Given the description of an element on the screen output the (x, y) to click on. 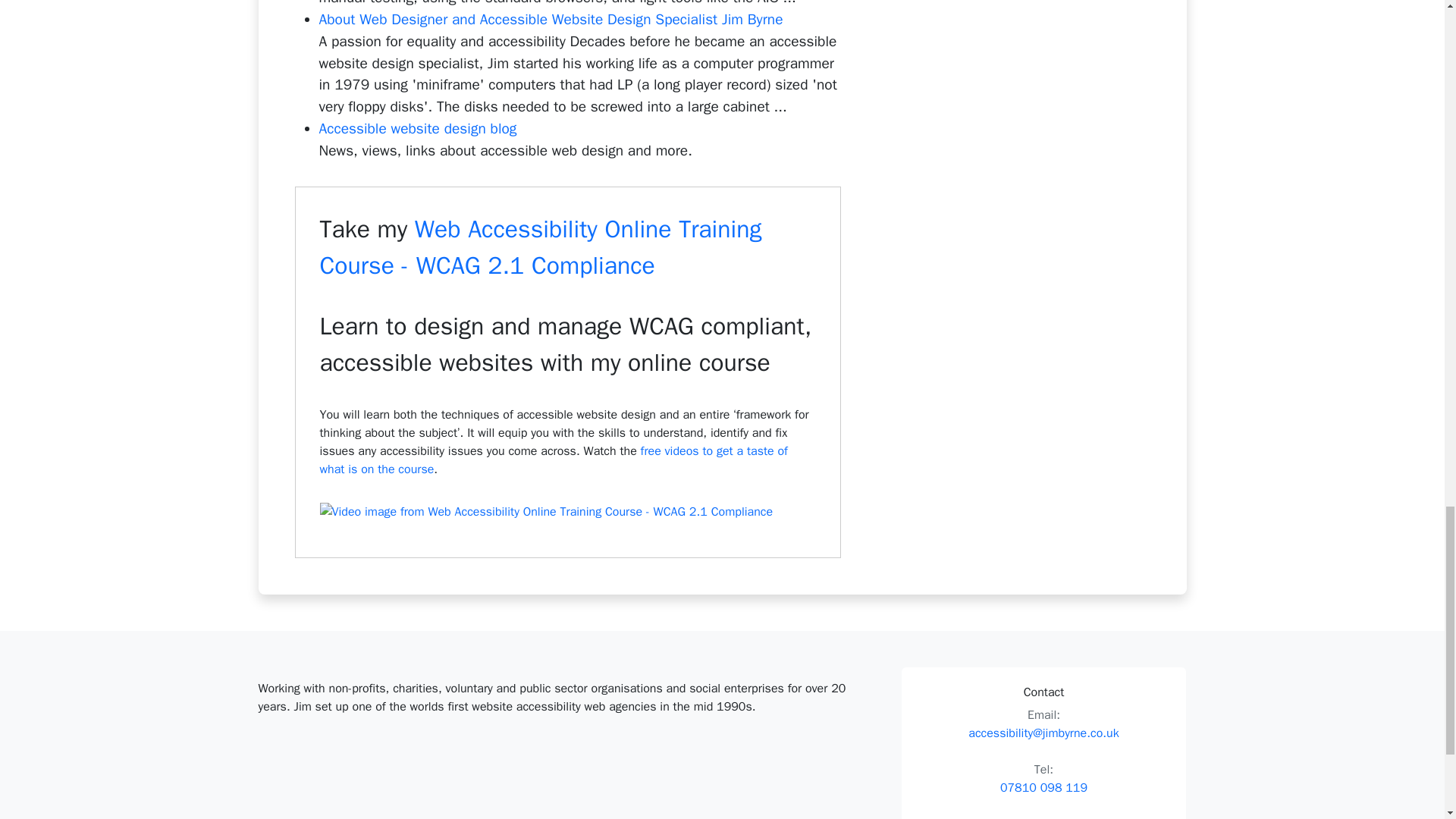
Accessible website design blog (417, 128)
07810 098 119 (1043, 787)
free videos to get a taste of what is on the course (553, 459)
